Given the description of an element on the screen output the (x, y) to click on. 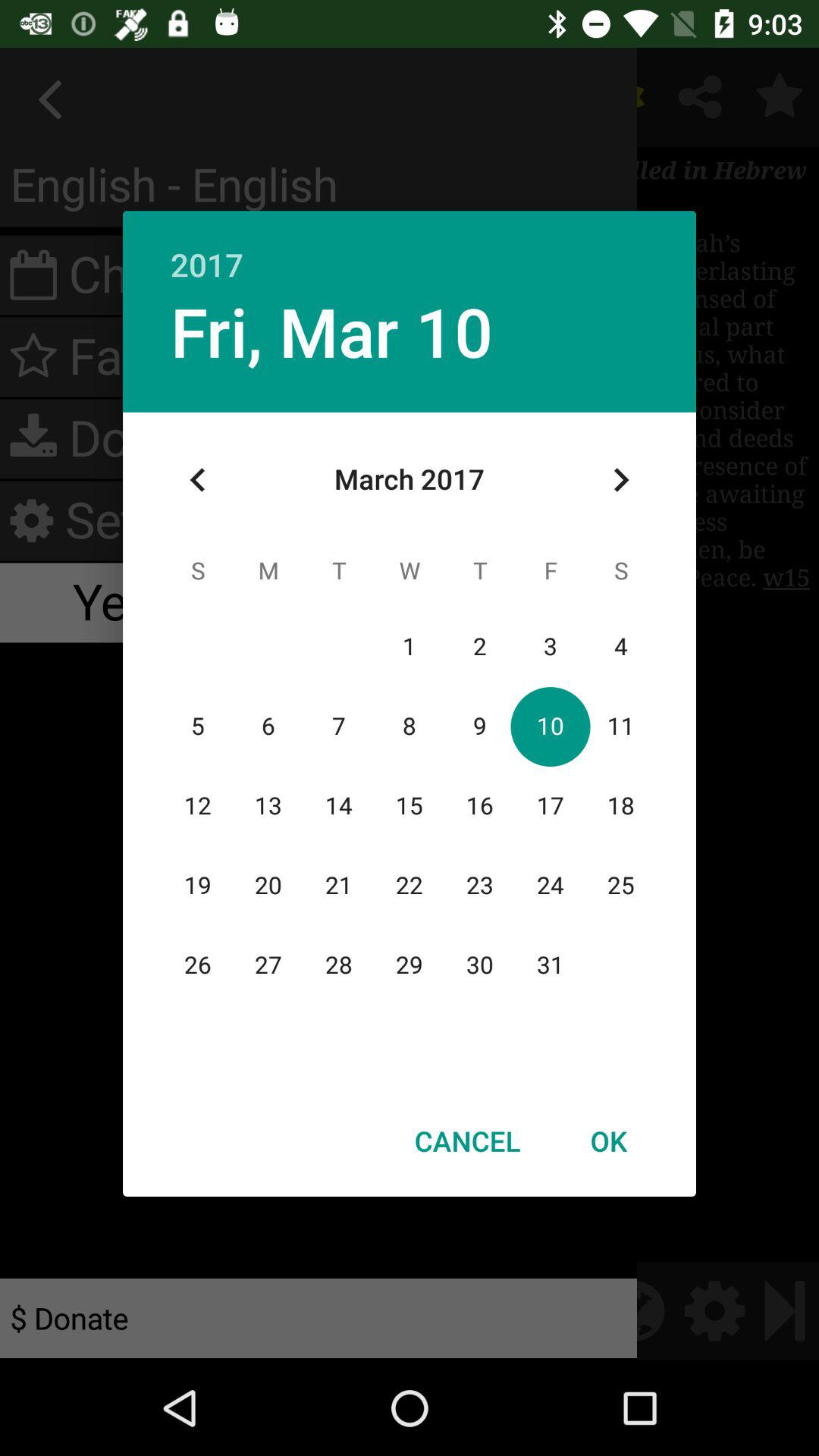
click item below the 2017 icon (331, 331)
